Given the description of an element on the screen output the (x, y) to click on. 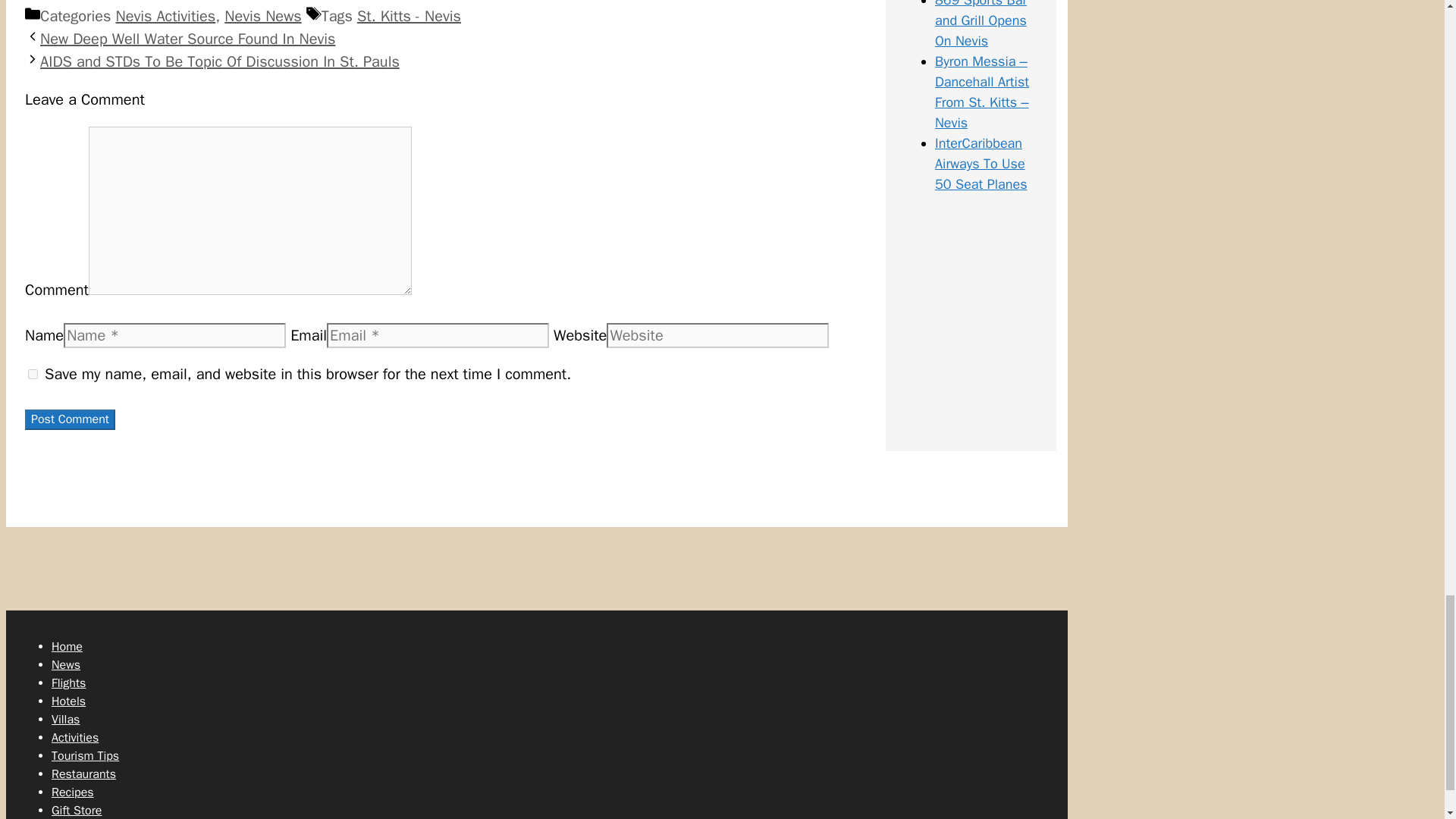
Nevis Activities (165, 15)
Post Comment (69, 419)
yes (32, 374)
Post Comment (69, 419)
AIDS and STDs To Be Topic Of Discussion In St. Pauls (219, 61)
St. Kitts - Nevis (408, 15)
Nevis News (262, 15)
New Deep Well Water Source Found In Nevis (187, 38)
